Given the description of an element on the screen output the (x, y) to click on. 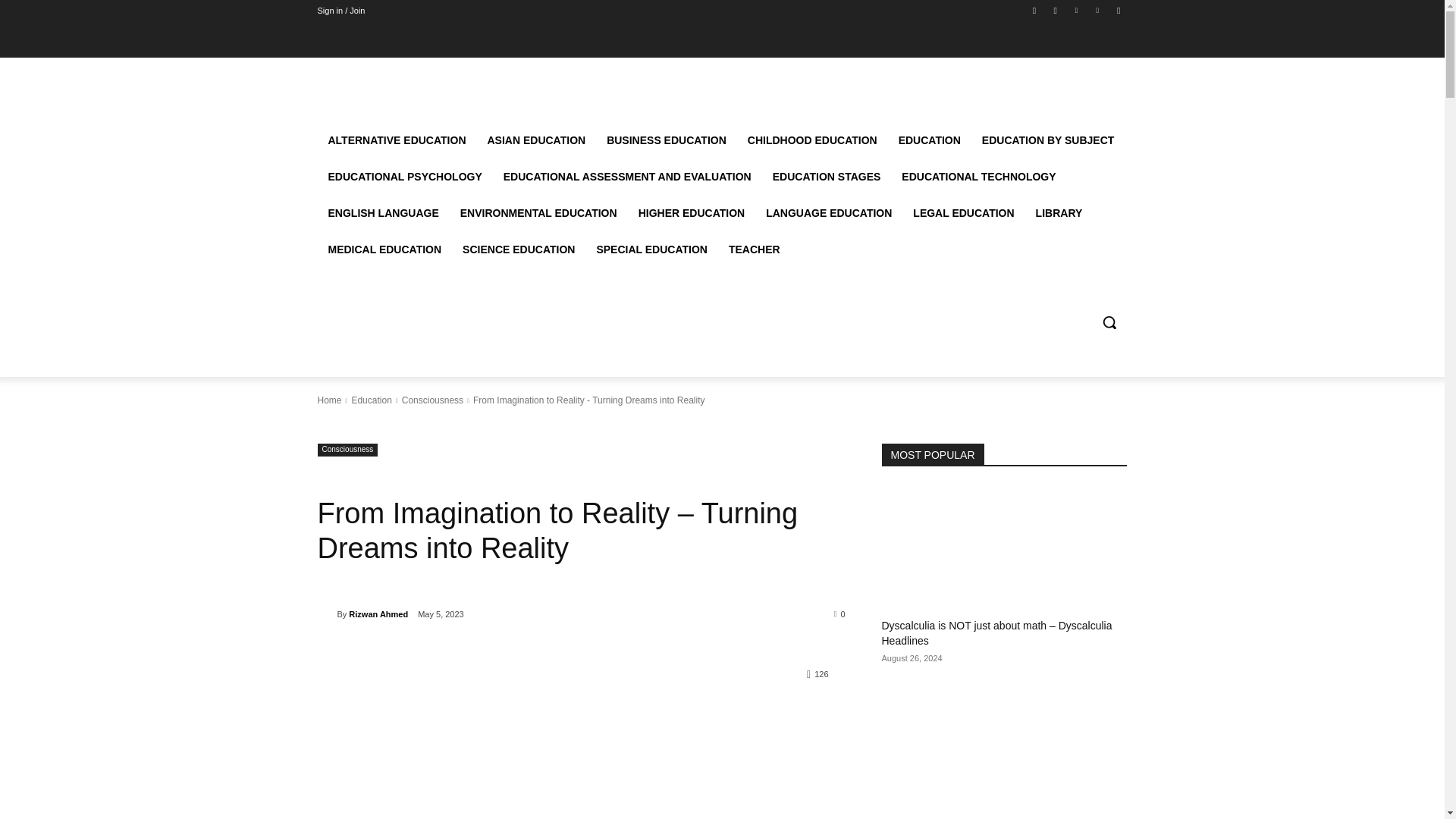
View all posts in Consciousness (432, 399)
Instagram (1055, 9)
Rizwan Ahmed (326, 613)
Twitter (1075, 9)
View all posts in Education (370, 399)
Facebook (1034, 9)
Vimeo (1097, 9)
Youtube (1117, 9)
